Given the description of an element on the screen output the (x, y) to click on. 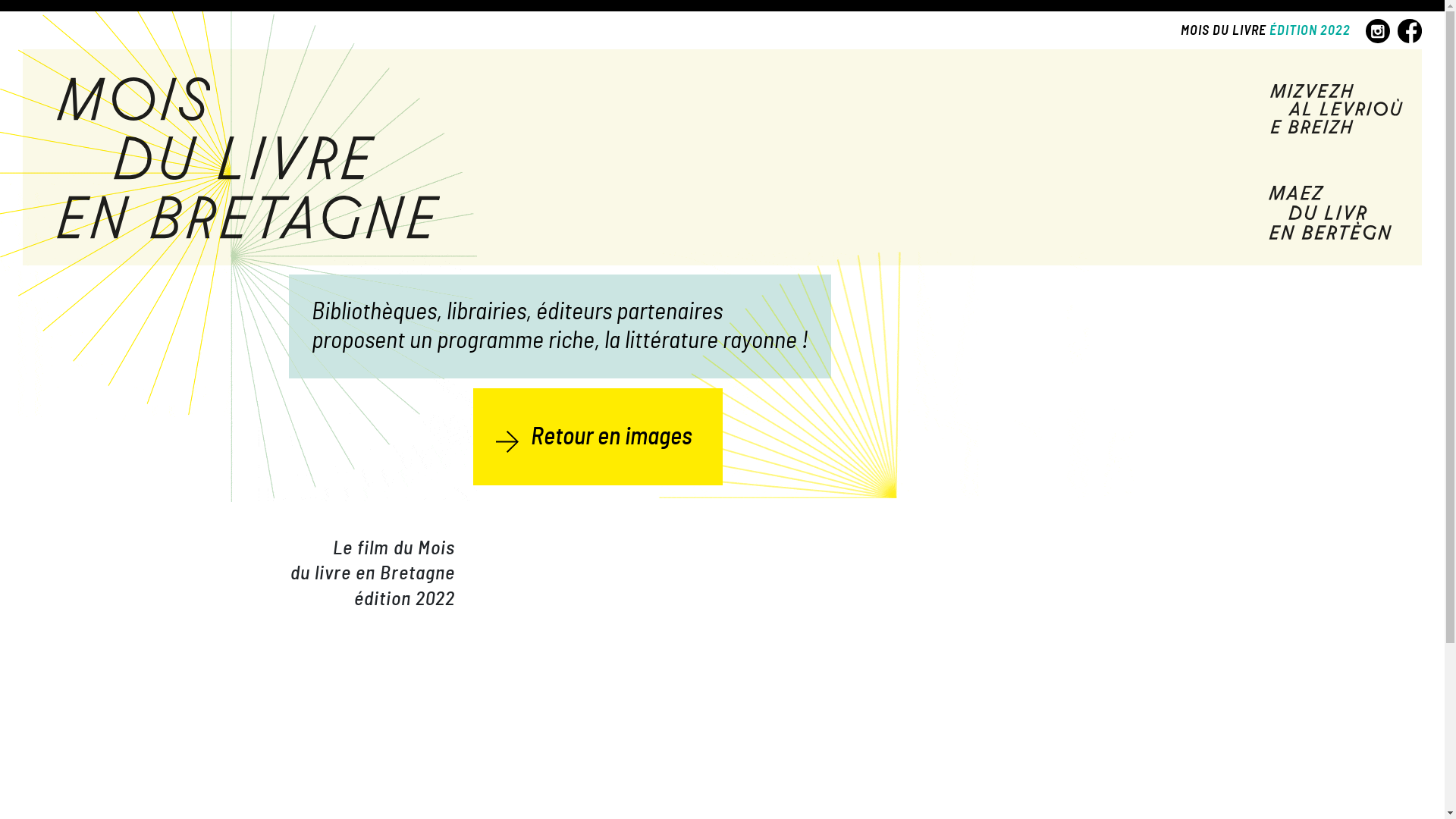
MOIS DU LIVRE Element type: text (1223, 30)
Retour en images Element type: text (597, 436)
